Given the description of an element on the screen output the (x, y) to click on. 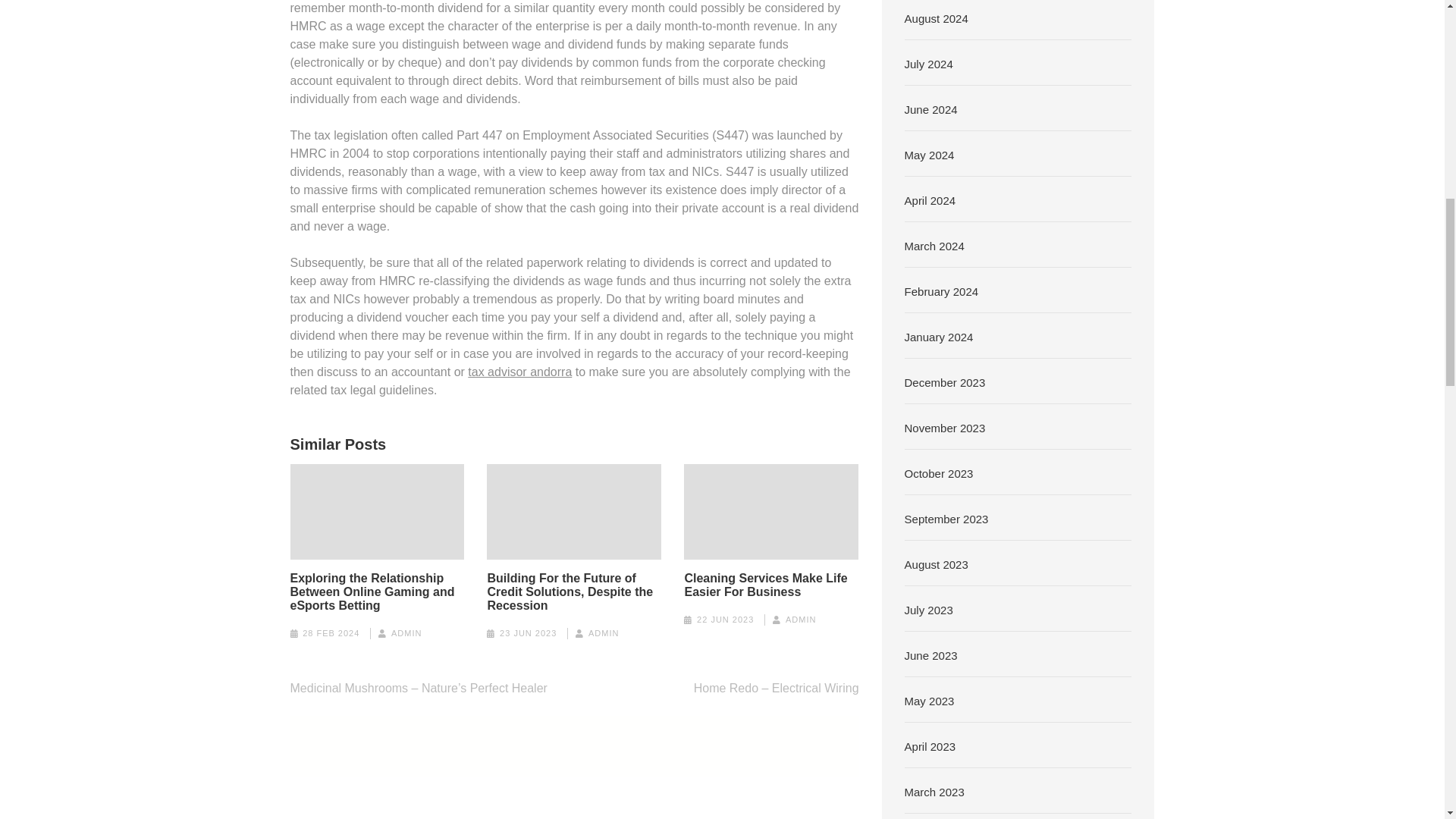
22 JUN 2023 (725, 619)
ADMIN (800, 619)
July 2024 (928, 63)
August 2024 (936, 18)
ADMIN (603, 633)
ADMIN (406, 633)
Cleaning Services Make Life Easier For Business (771, 584)
23 JUN 2023 (527, 633)
tax advisor andorra (519, 371)
